Given the description of an element on the screen output the (x, y) to click on. 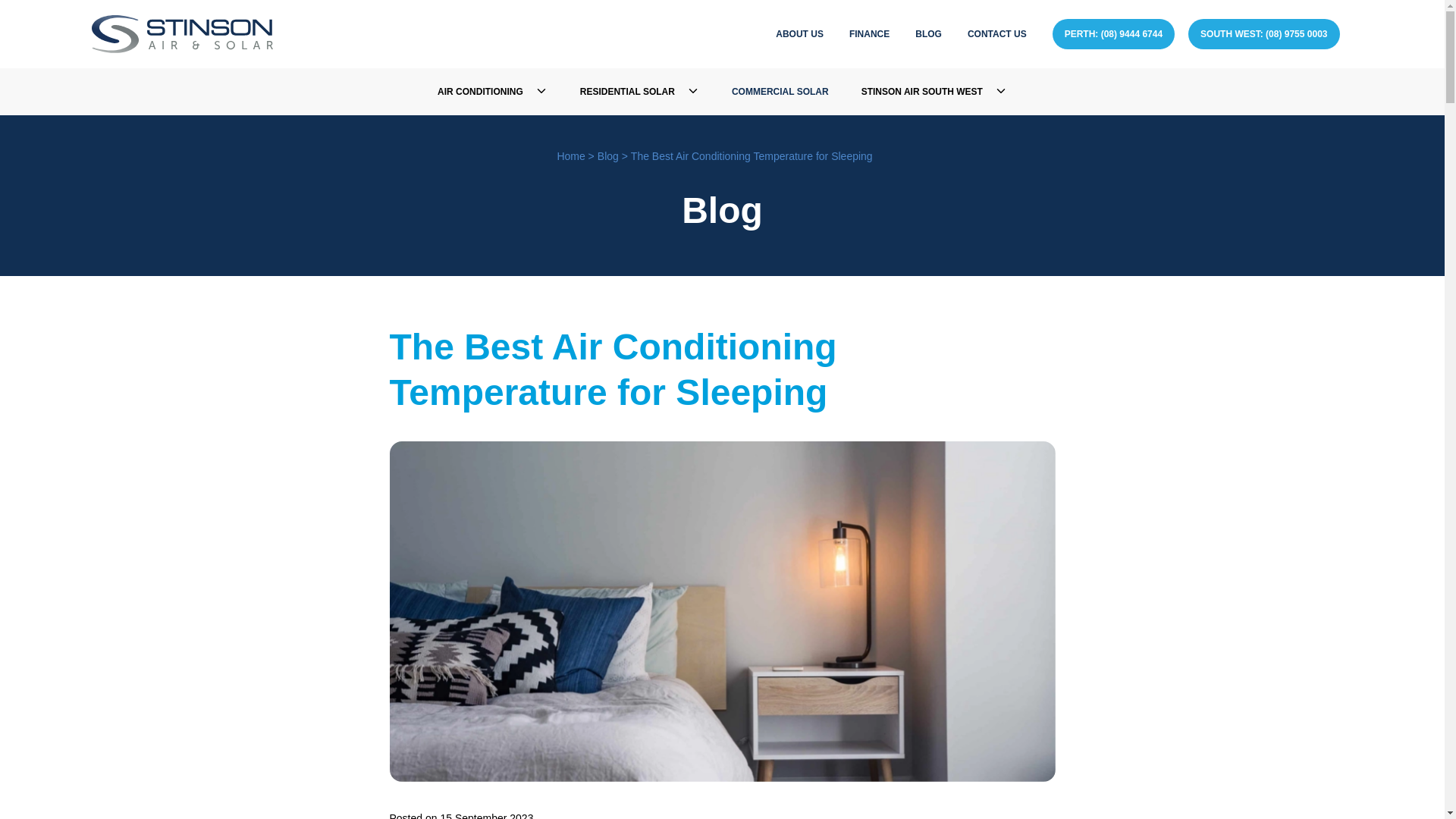
BLOG (928, 33)
FINANCE (868, 33)
Chevron Down (541, 91)
Chevron Down (692, 91)
CONTACT US (997, 33)
ABOUT US (800, 33)
Chevron Down (1000, 91)
